Given the description of an element on the screen output the (x, y) to click on. 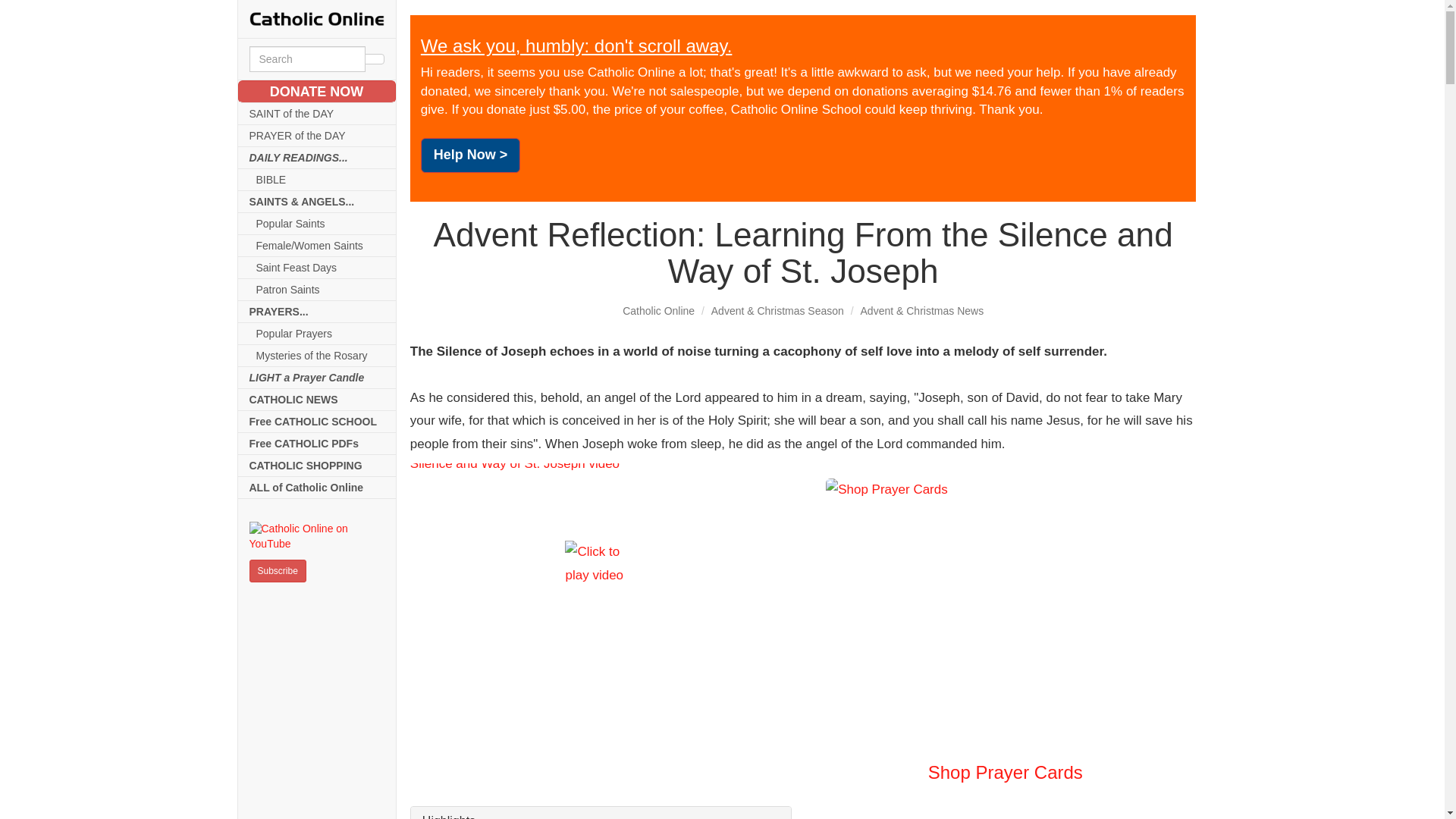
Free CATHOLIC SCHOOL (317, 422)
Catholic Online: World's Catholic Library (316, 18)
Saint Feast Days (317, 268)
CATHOLIC SHOPPING (317, 465)
ALL of Catholic Online (317, 487)
Mysteries of the Rosary (317, 355)
BIBLE (317, 179)
PRAYERS... (317, 311)
CATHOLIC NEWS (317, 400)
Patron Saints (317, 290)
Shop Prayer Cards (1005, 630)
Catholic Online (658, 310)
Subscribe (276, 570)
DAILY READINGS... (317, 157)
Free CATHOLIC PDFs (317, 444)
